Given the description of an element on the screen output the (x, y) to click on. 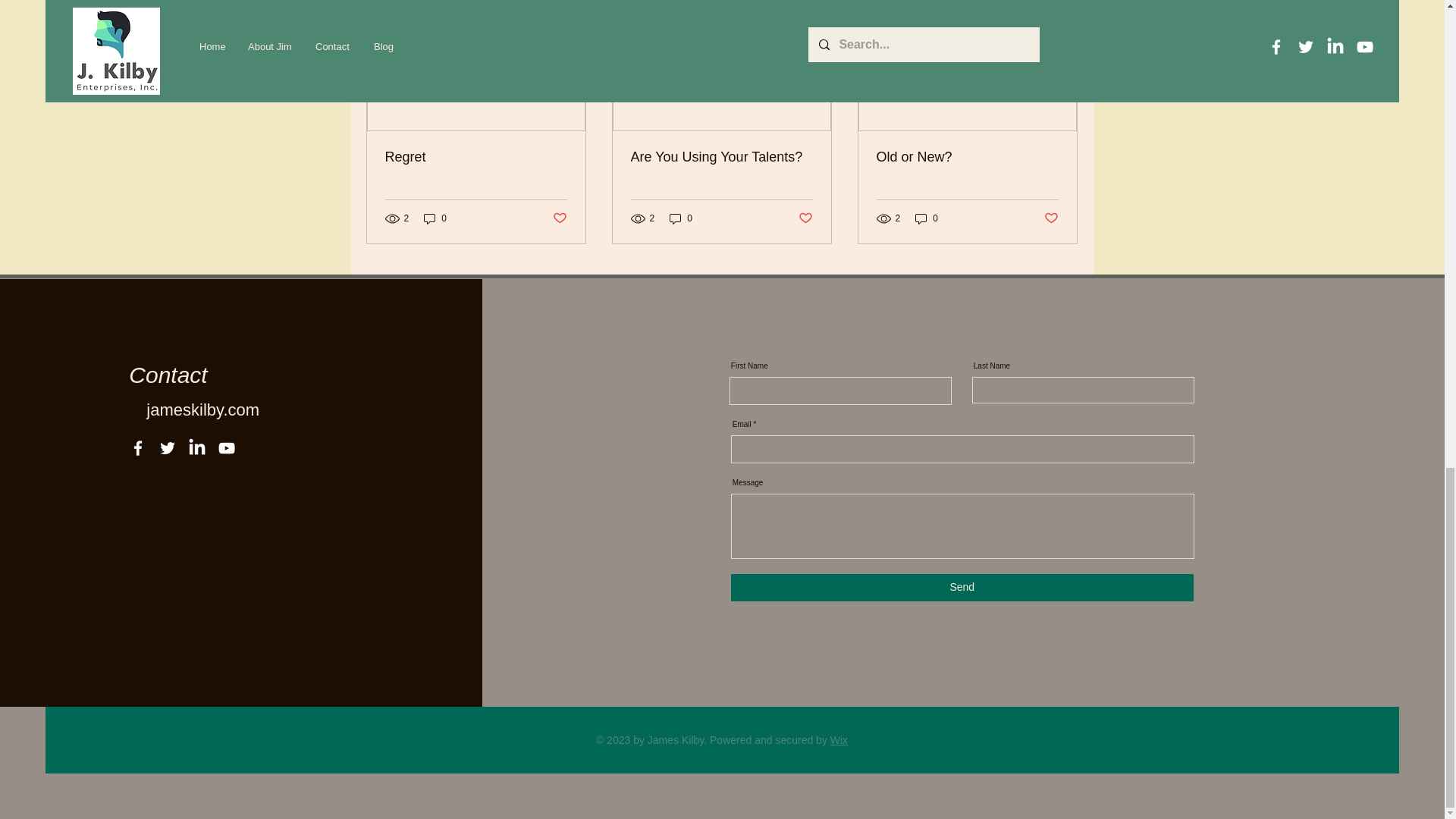
Post not marked as liked (558, 218)
0 (681, 217)
Regret (476, 157)
0 (435, 217)
Are You Using Your Talents? (721, 157)
